Given the description of an element on the screen output the (x, y) to click on. 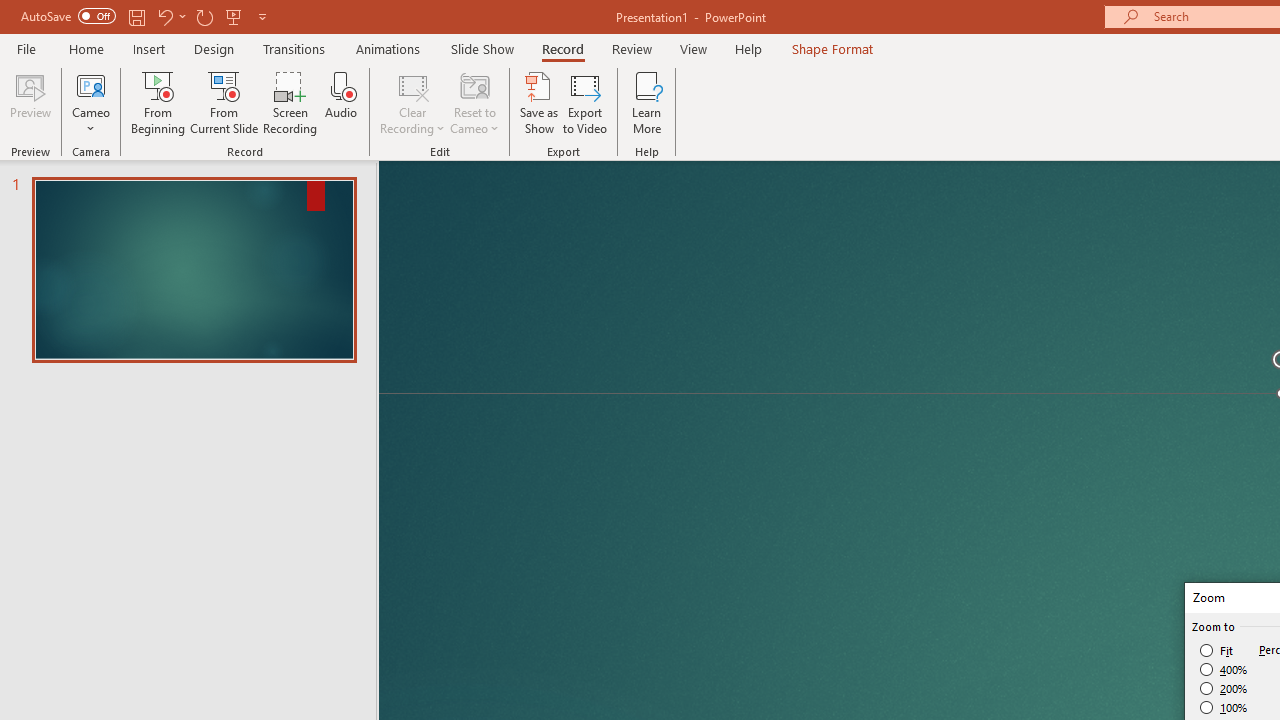
100% (1224, 707)
Clear Recording (412, 102)
400% (1224, 669)
Fit (1217, 650)
Export to Video (585, 102)
